Given the description of an element on the screen output the (x, y) to click on. 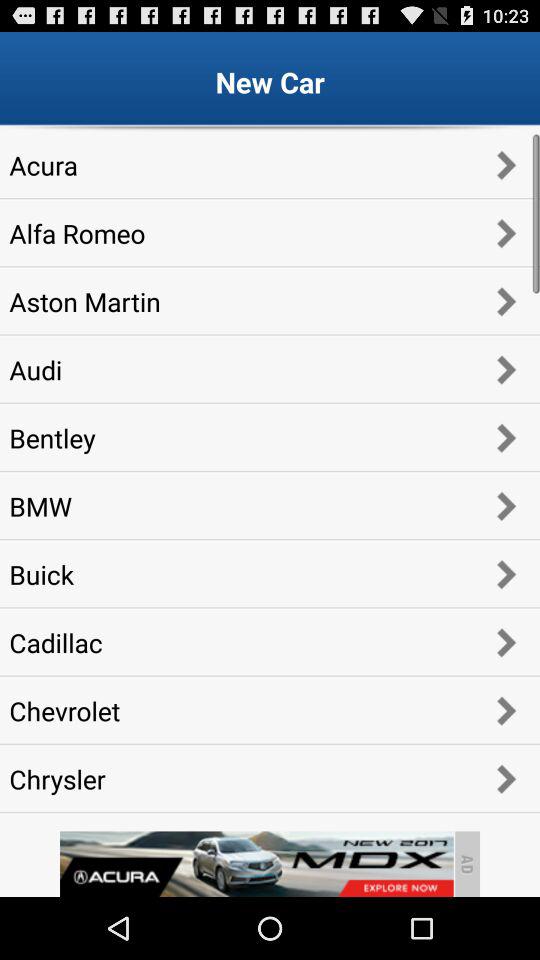
click on sixth arrow from the top (505, 505)
